Given the description of an element on the screen output the (x, y) to click on. 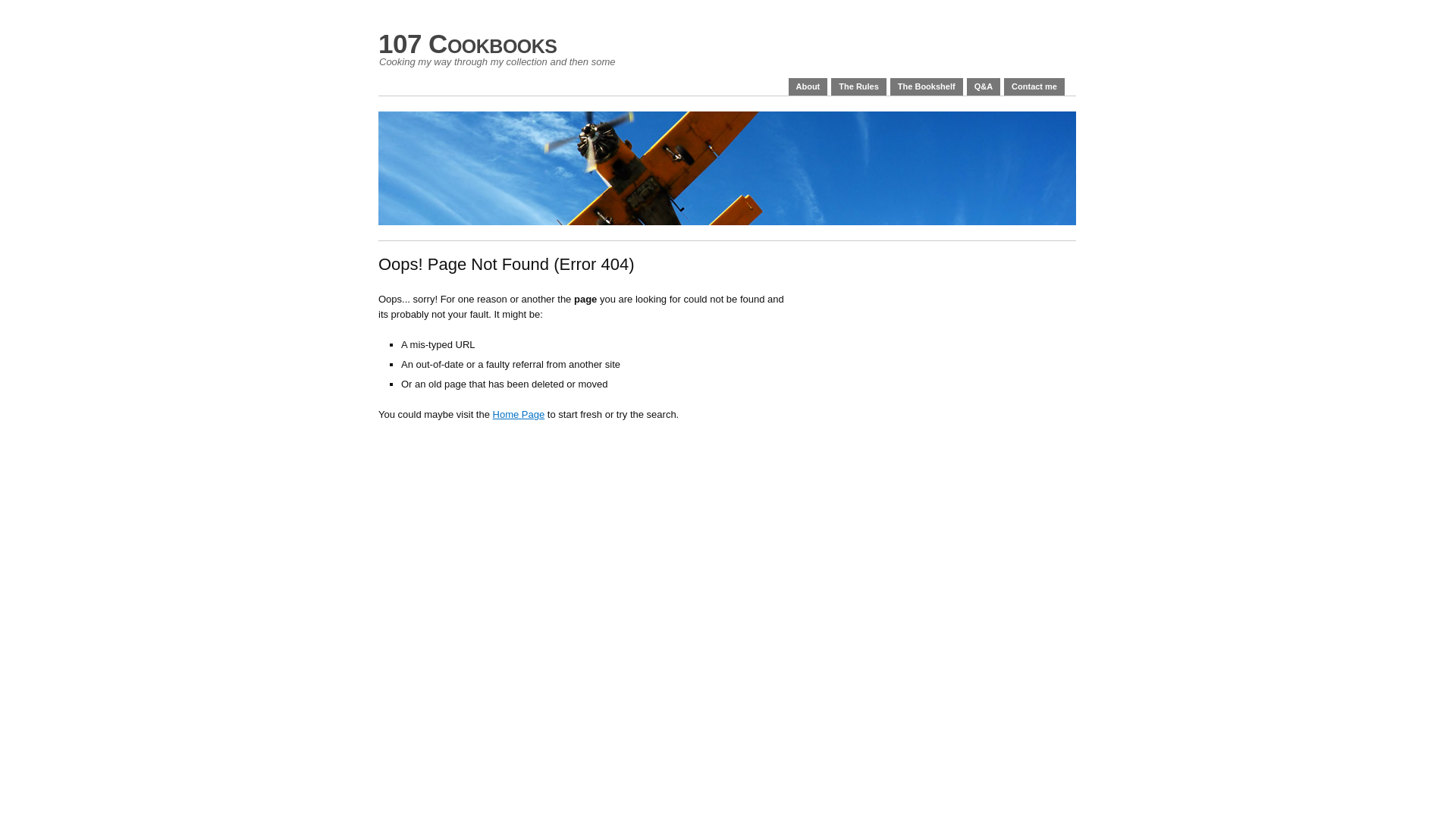
About Element type: text (808, 86)
Contact me Element type: text (1034, 86)
Home Page Element type: text (518, 414)
107 Cookbooks Random Header Image Element type: hover (727, 168)
Q&A Element type: text (983, 86)
The Bookshelf Element type: text (926, 86)
The Rules Element type: text (858, 86)
107 Cookbooks Element type: text (467, 43)
